Given the description of an element on the screen output the (x, y) to click on. 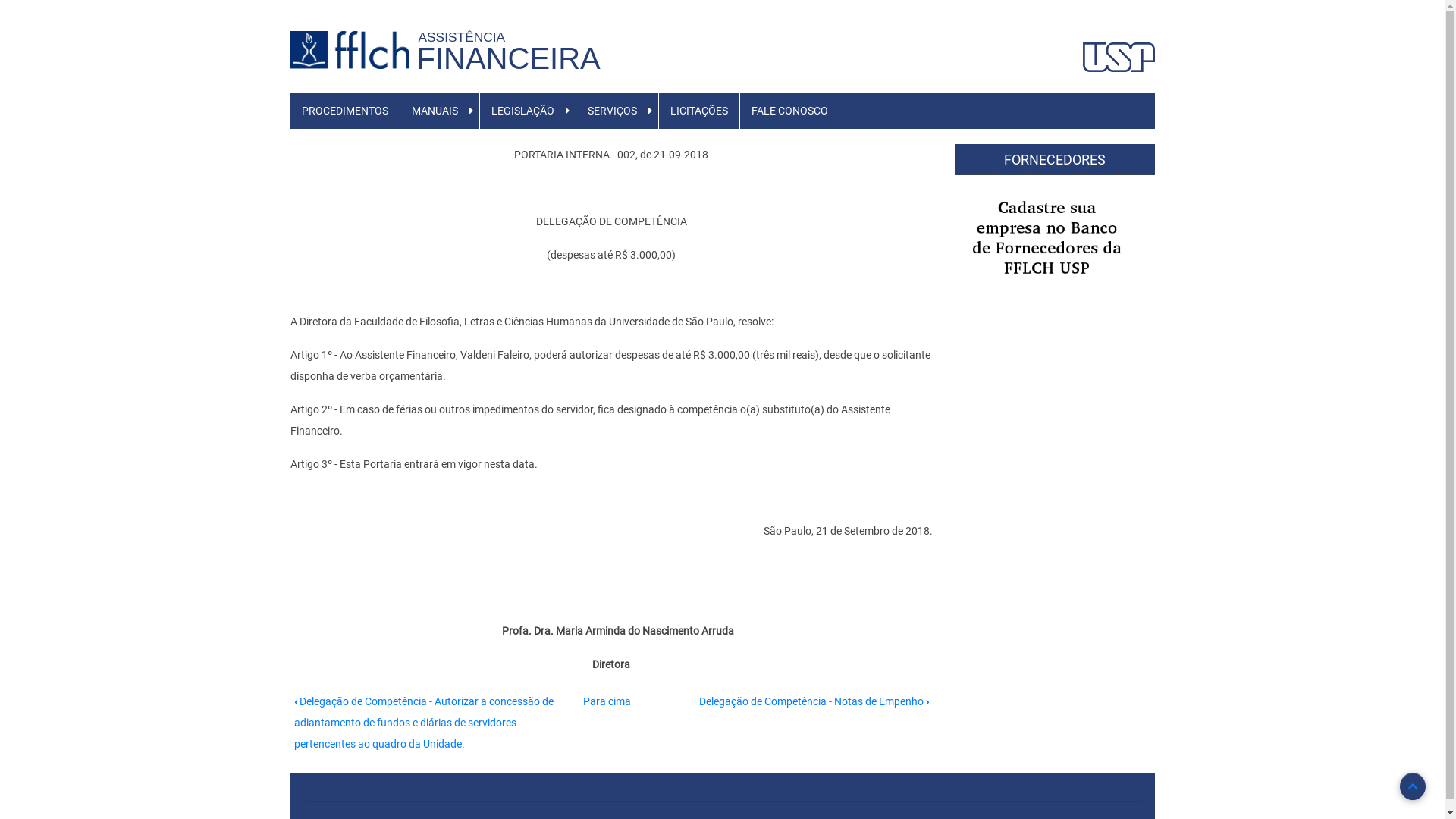
Back to Top Element type: hover (1412, 786)
MANUAIS Element type: text (434, 110)
FALE CONOSCO Element type: text (789, 110)
Para cima Element type: text (606, 701)
FINANCEIRA Element type: text (508, 58)
PROCEDIMENTOS Element type: text (343, 110)
